Given the description of an element on the screen output the (x, y) to click on. 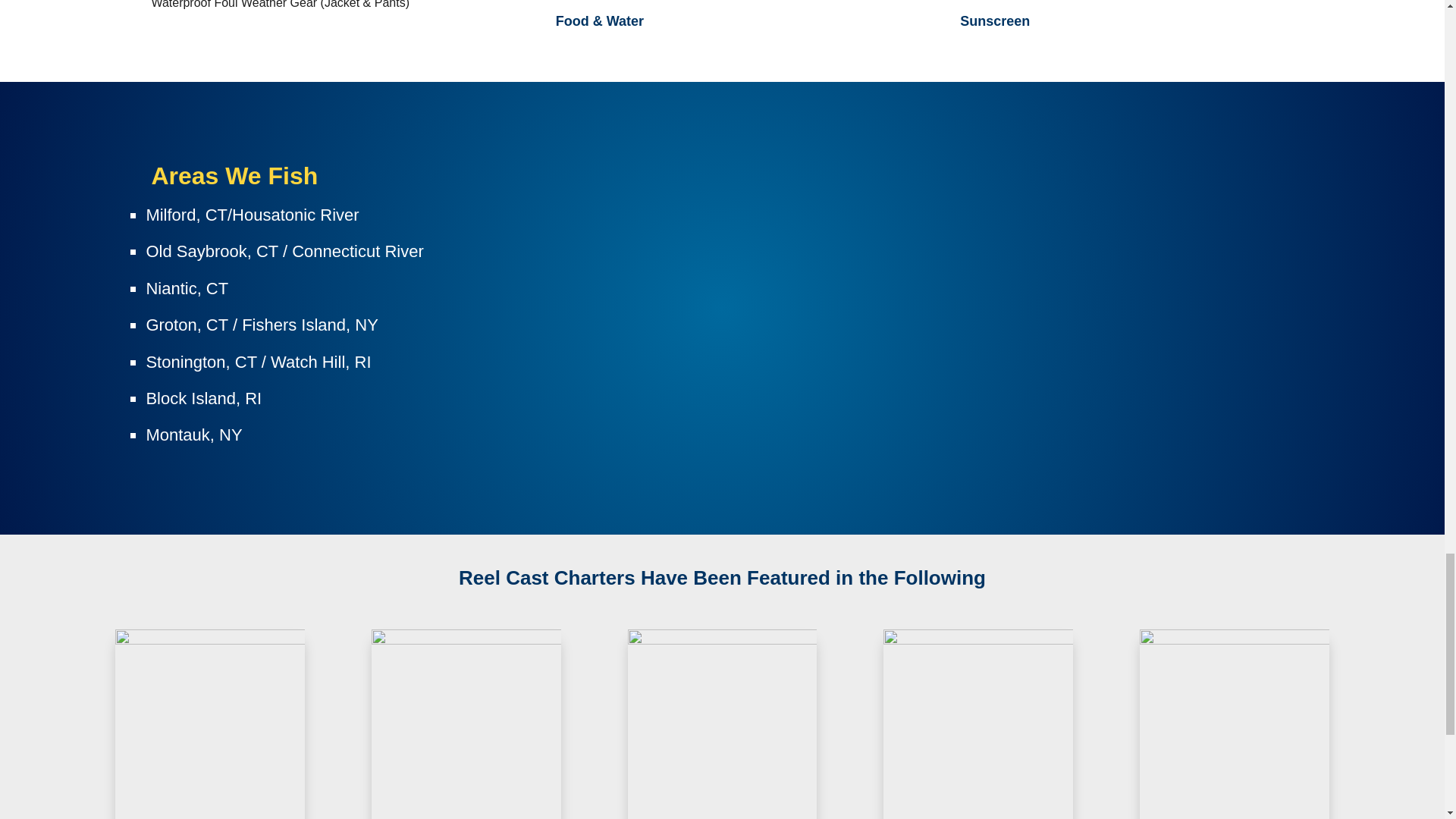
reel-cast-magazine-cover-002 (1234, 724)
reel-cast-magazine-cover-004 (721, 724)
reel-cast-magazine-cover-005 (978, 724)
reel-cast-magazine-cover-003 (209, 724)
reel-cast-magazine-cover-001 (465, 724)
